Given the description of an element on the screen output the (x, y) to click on. 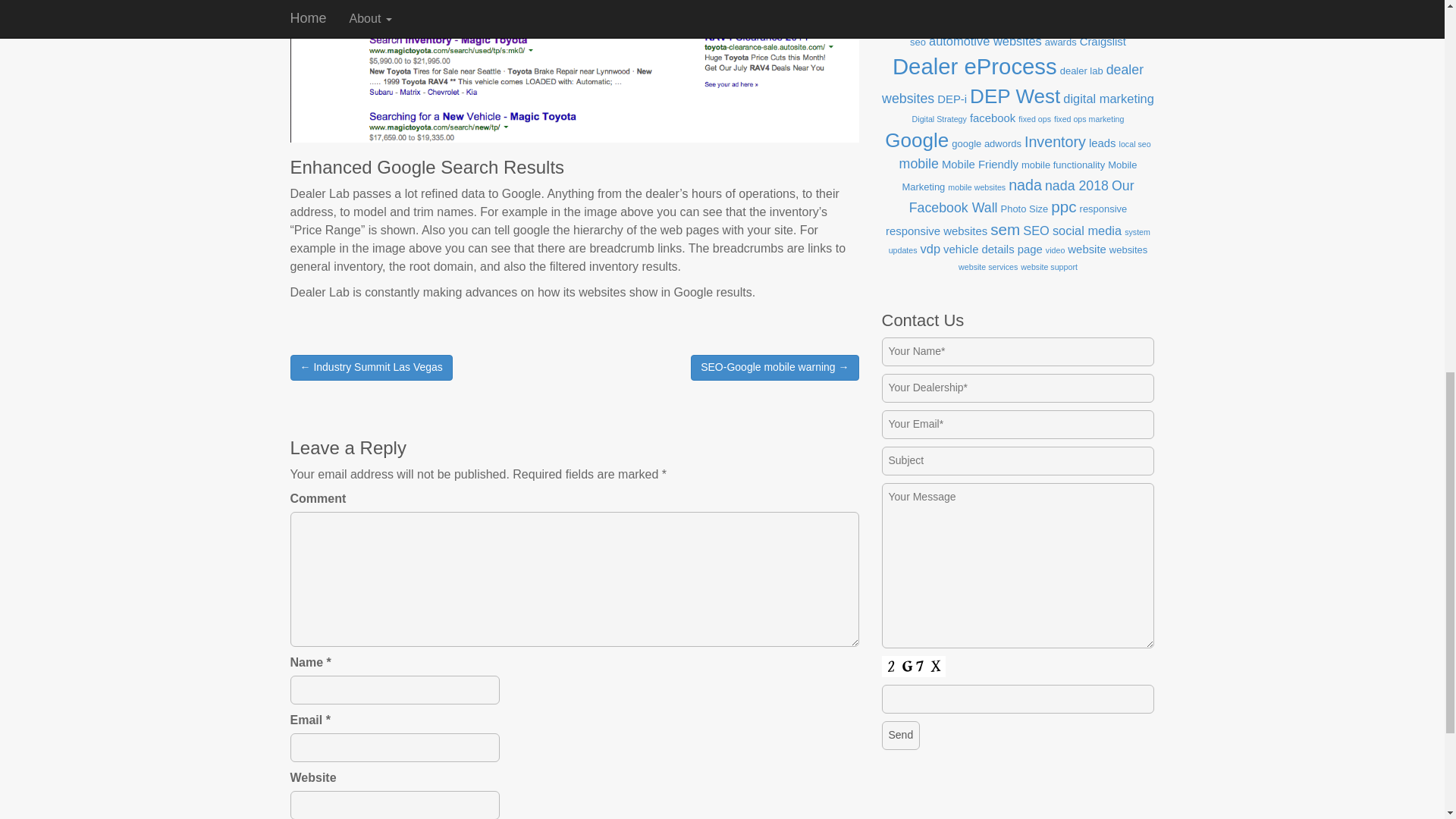
Send (900, 735)
